Given the description of an element on the screen output the (x, y) to click on. 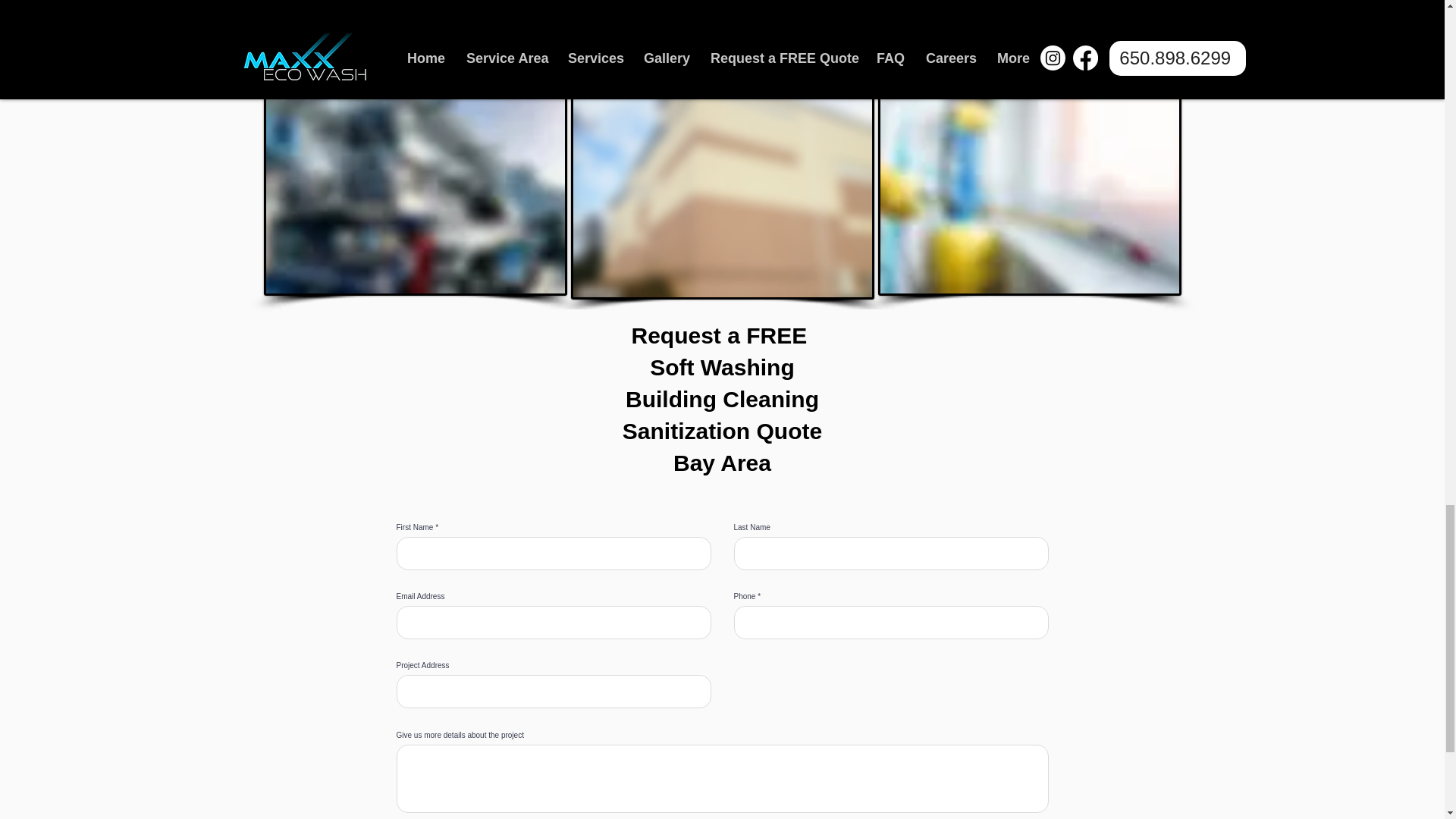
Escalator Handrail Sanitization (415, 40)
Hotel Soft Wash Exterior Cleaning (1028, 40)
Soft Wash Chemical Disinfection (1028, 190)
